Given the description of an element on the screen output the (x, y) to click on. 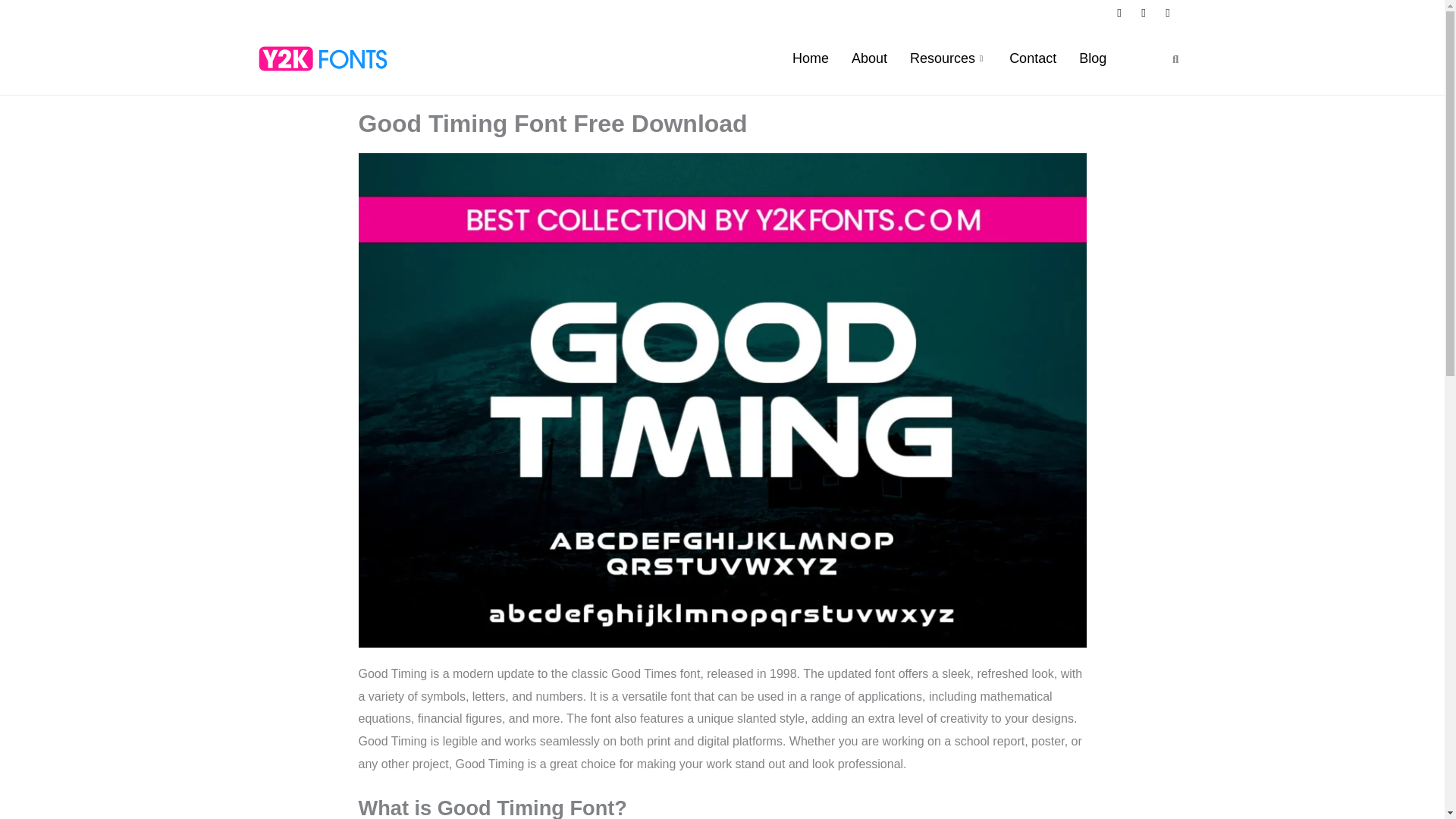
About (869, 58)
Home (810, 58)
Contact (1032, 58)
Blog (1092, 58)
Resources (947, 58)
